Given the description of an element on the screen output the (x, y) to click on. 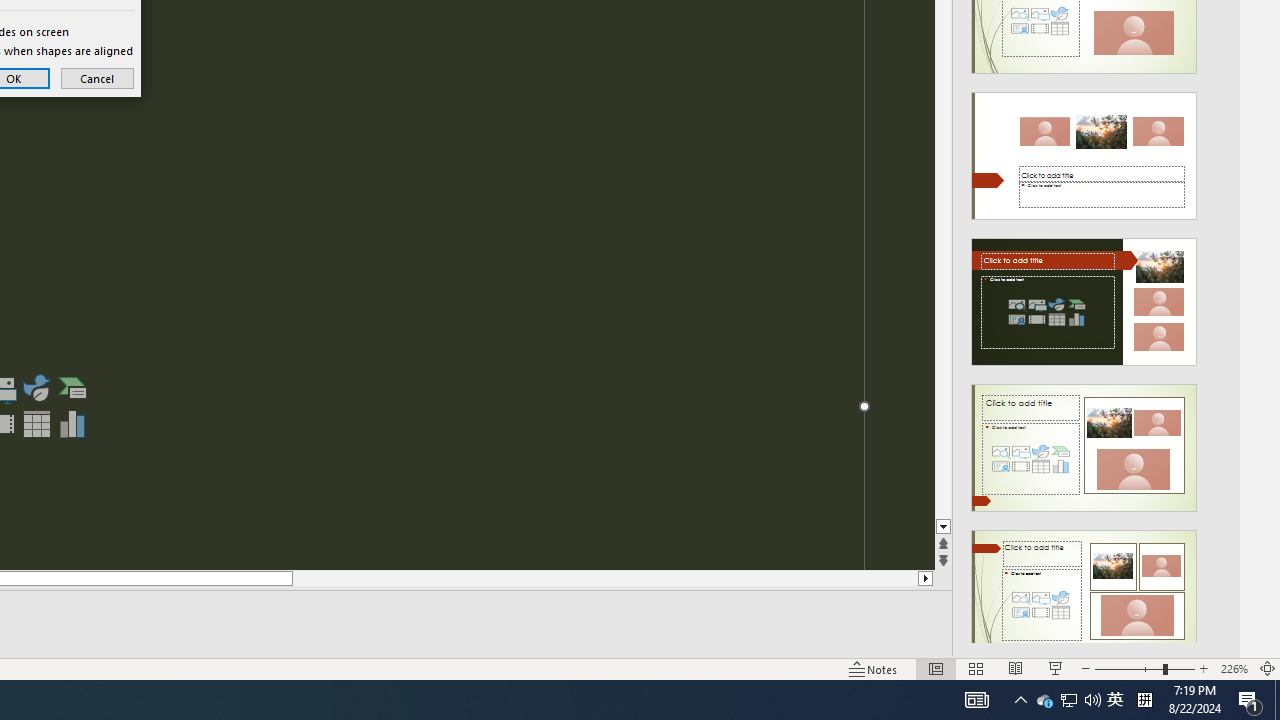
Cancel (97, 78)
Zoom 226% (1234, 668)
Insert an Icon (36, 387)
Insert Table (1044, 699)
